Given the description of an element on the screen output the (x, y) to click on. 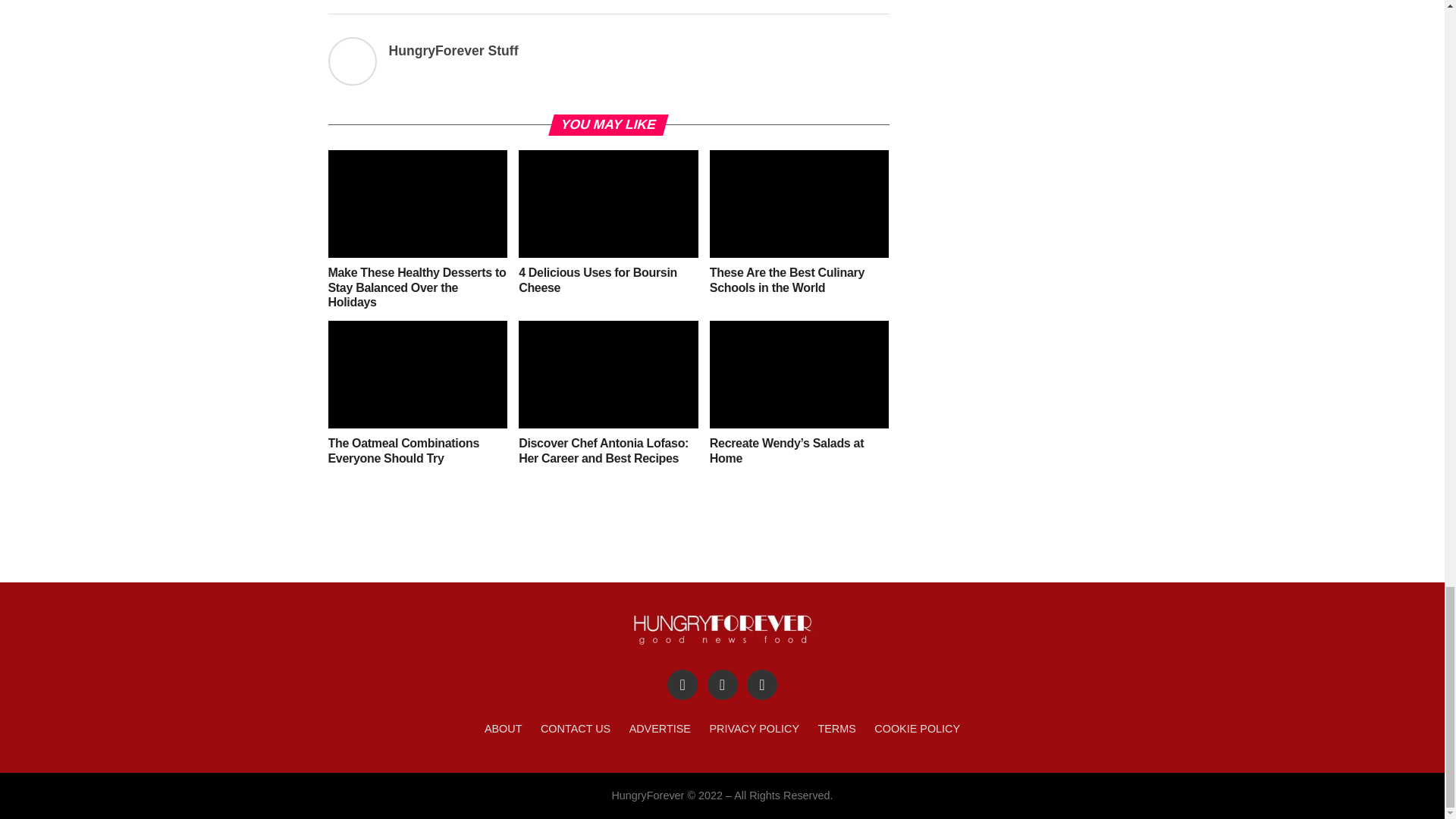
Posts by HungryForever Stuff (453, 50)
HungryForever Stuff (453, 50)
